Given the description of an element on the screen output the (x, y) to click on. 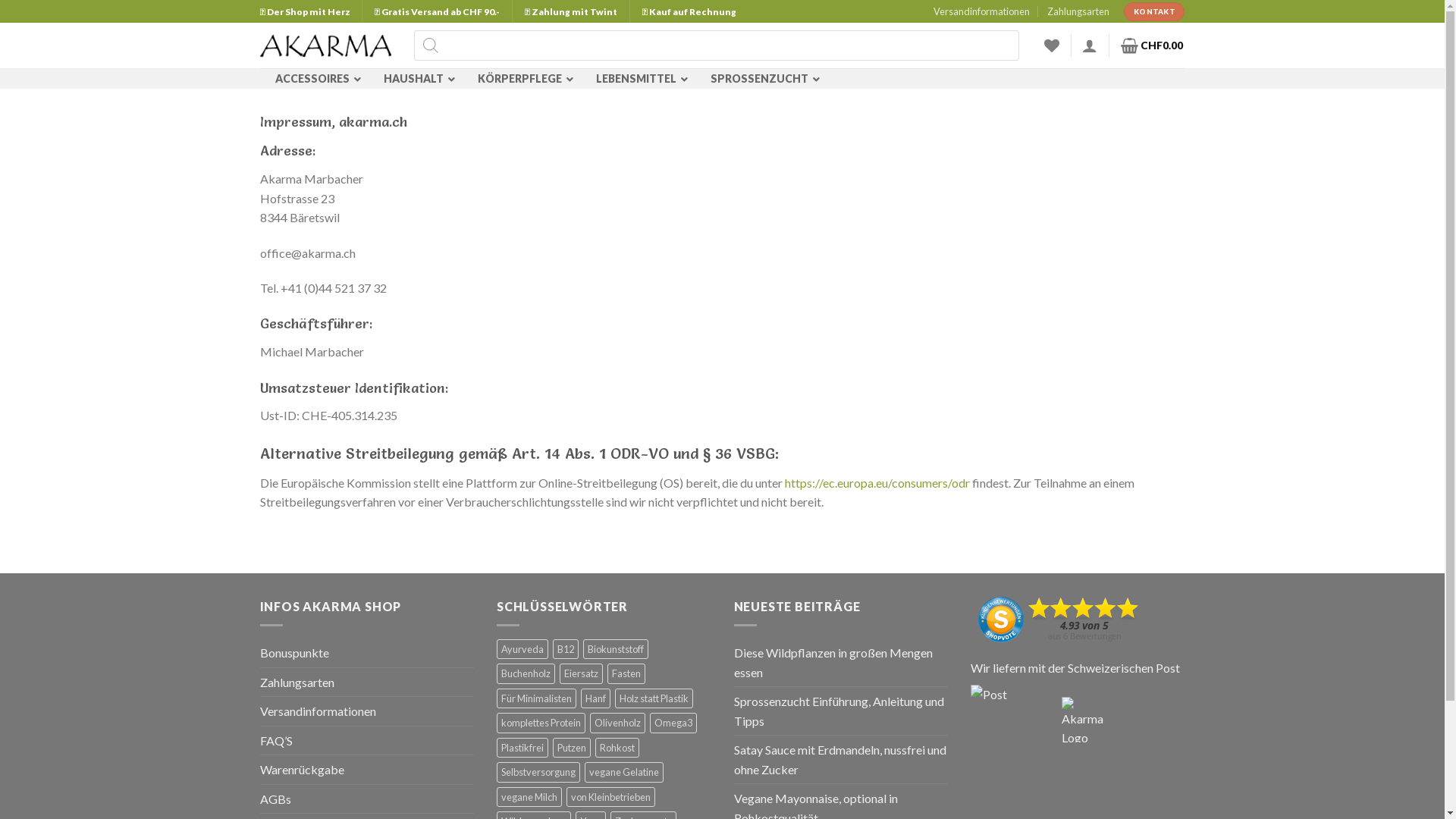
LEBENSMITTEL Element type: text (637, 78)
Buchenholz Element type: text (525, 673)
Putzen Element type: text (571, 747)
Ayurveda Element type: text (522, 648)
ACCESSOIRES Element type: text (313, 78)
SPROSSENZUCHT Element type: text (760, 78)
komplettes Protein Element type: text (540, 722)
https://ec.europa.eu/consumers/odr Element type: text (876, 482)
von Kleinbetrieben Element type: text (610, 796)
Eiersatz Element type: text (580, 673)
Zahlungsarten Element type: text (296, 682)
Satay Sauce mit Erdmandeln, nussfrei und ohne Zucker Element type: text (841, 759)
Skip to content Element type: text (0, 0)
KONTAKT Element type: text (1153, 11)
Selbstversorgung Element type: text (538, 771)
Zahlungsarten Element type: text (1078, 11)
Biokunststoff Element type: text (615, 648)
Bonuspunkte Element type: text (293, 652)
vegane Gelatine Element type: text (623, 771)
AGBs Element type: text (274, 798)
B12 Element type: text (565, 648)
Rohkost Element type: text (617, 747)
Olivenholz Element type: text (617, 722)
HAUSHALT Element type: text (415, 78)
Holz statt Plastik Element type: text (654, 698)
Omega3 Element type: text (672, 722)
Plastikfrei Element type: text (522, 747)
Fasten Element type: text (626, 673)
Versandinformationen Element type: text (317, 710)
Versandinformationen Element type: text (981, 11)
Hanf Element type: text (595, 698)
vegane Milch Element type: text (528, 796)
